Given the description of an element on the screen output the (x, y) to click on. 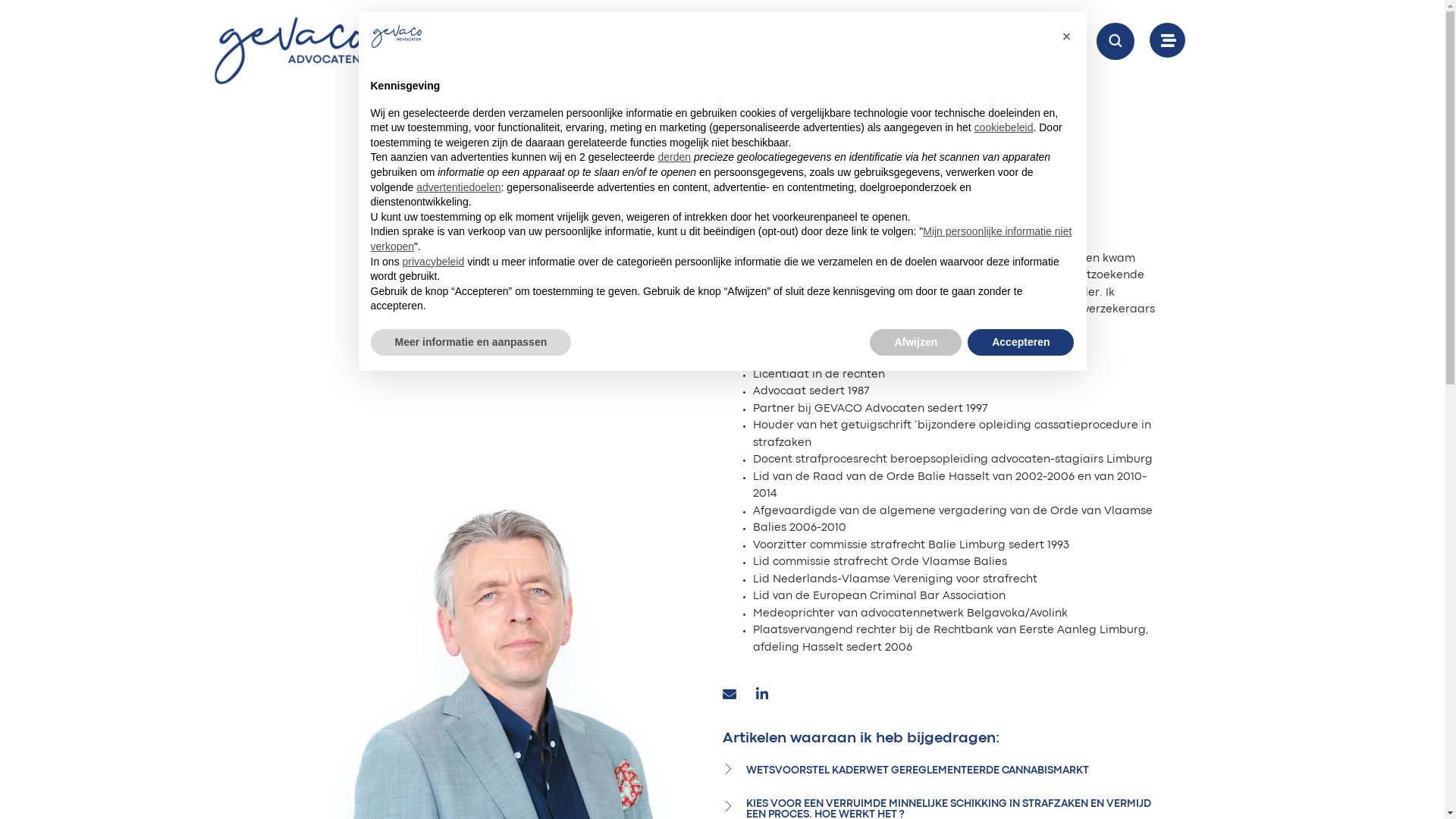
WETSVOORSTEL KADERWET GEREGLEMENTEERDE CANNABISMARKT Element type: text (917, 770)
CONTACTEER ONS Element type: text (1001, 40)
cookiebeleid Element type: text (1003, 127)
derden Element type: text (674, 156)
Meer informatie en aanpassen Element type: text (470, 342)
Mijn persoonlijke informatie niet verkopen Element type: text (720, 238)
advertentiedoelen Element type: text (458, 187)
Afwijzen Element type: text (915, 342)
Accepteren Element type: text (1020, 342)
privacybeleid Element type: text (433, 261)
